Given the description of an element on the screen output the (x, y) to click on. 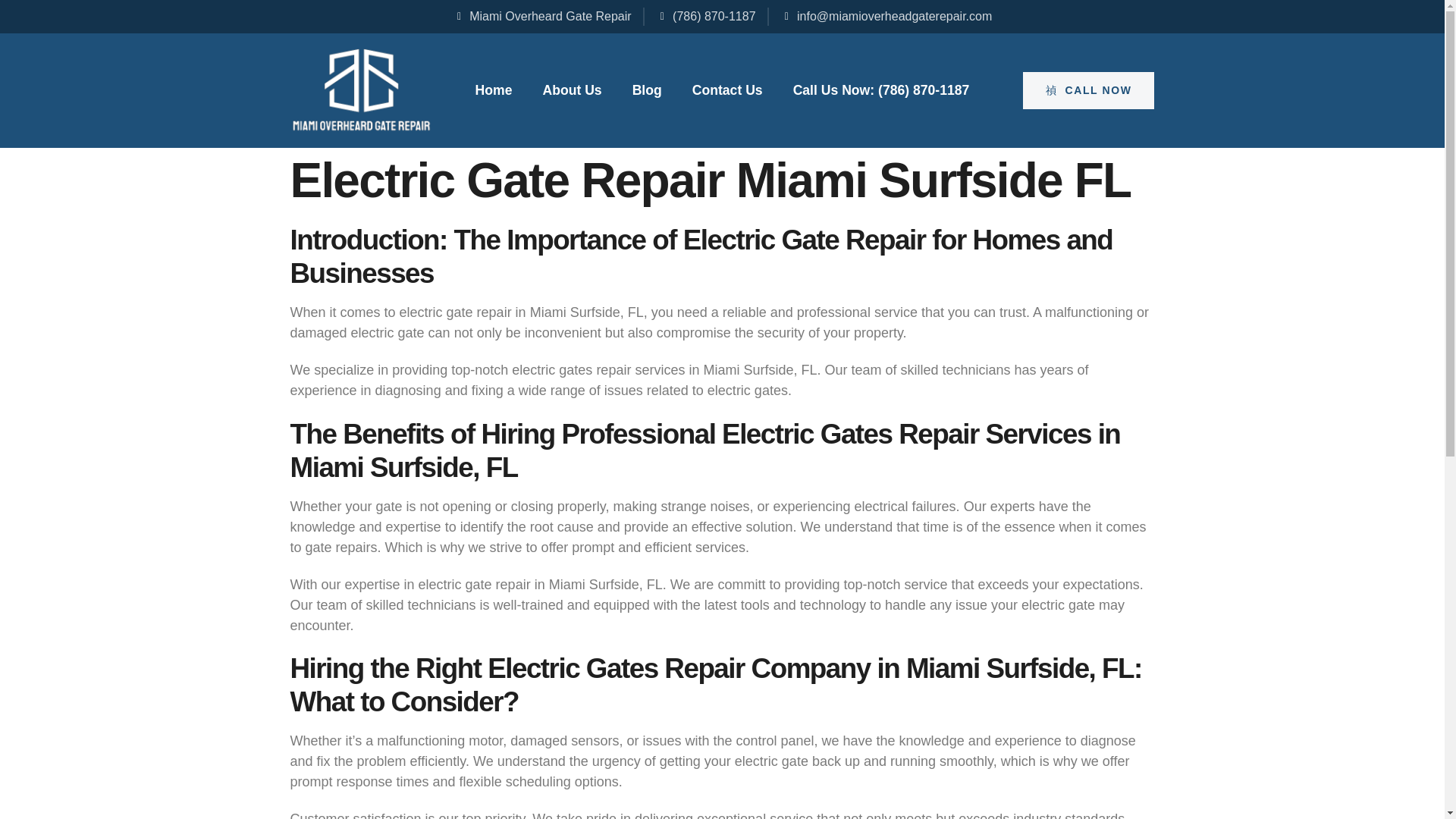
Home (494, 90)
CALL NOW (1088, 90)
About Us (571, 90)
Miami Overheard Gate Repair (541, 16)
Contact Us (727, 90)
